Given the description of an element on the screen output the (x, y) to click on. 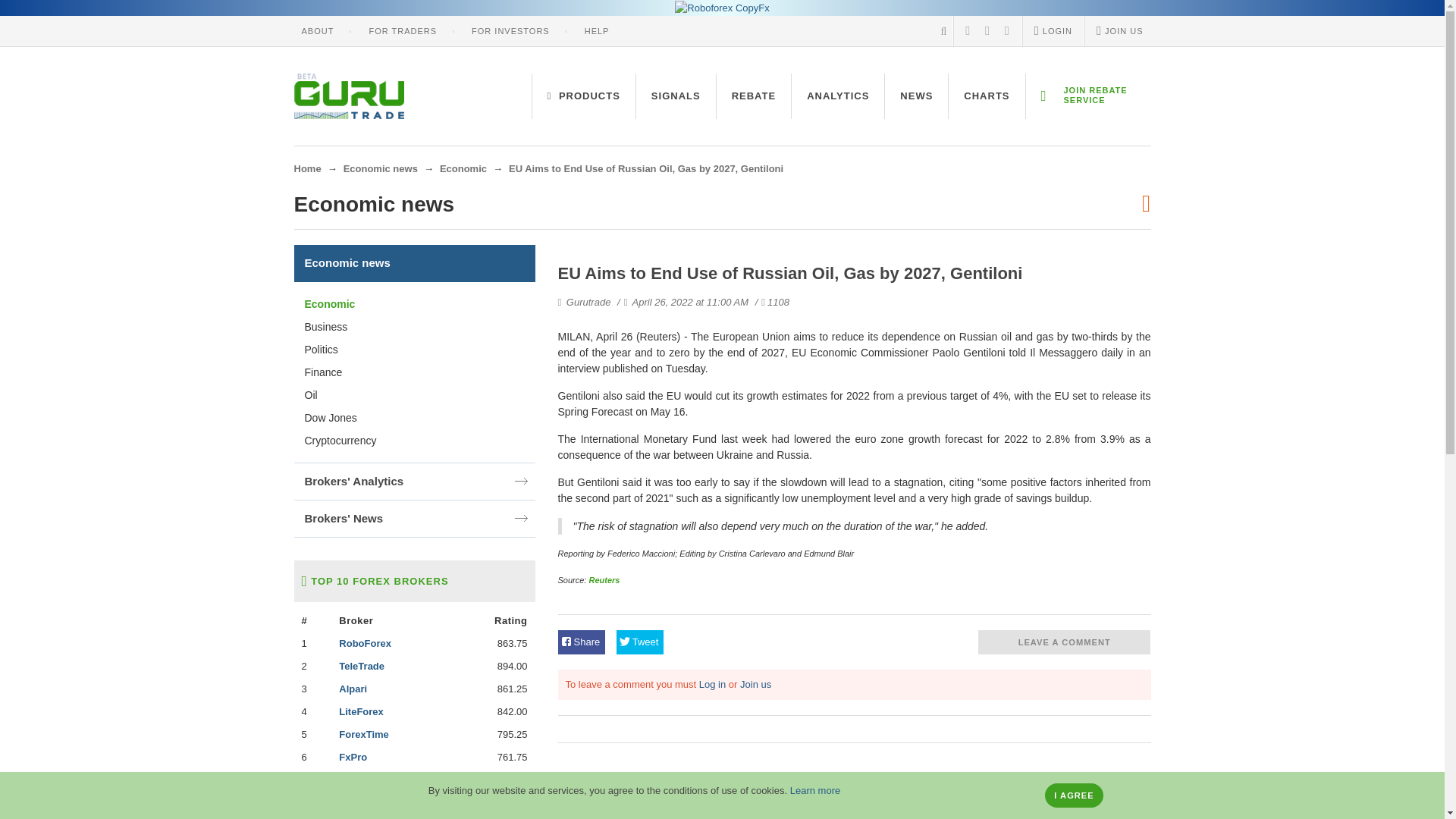
JOIN REBATE SERVICE (1087, 95)
JOIN US (1119, 30)
Share on Facebook (581, 641)
PRODUCTS (583, 95)
CHARTS (987, 95)
Home (307, 168)
ANALYTICS (837, 95)
LOGIN (1052, 30)
NEWS (916, 95)
FOR INVESTORS (510, 30)
